Given the description of an element on the screen output the (x, y) to click on. 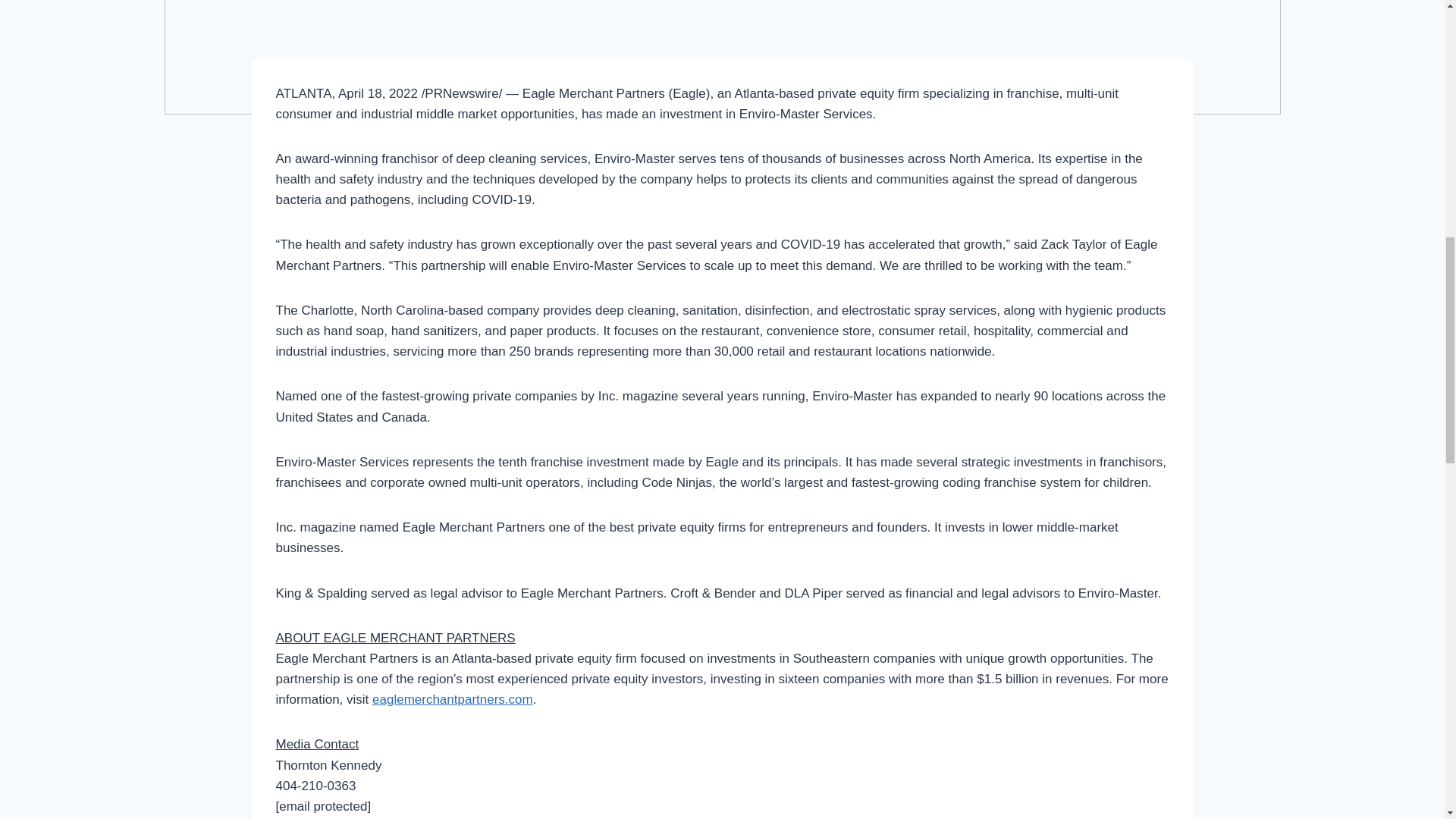
eaglemerchantpartners.com (452, 699)
